Given the description of an element on the screen output the (x, y) to click on. 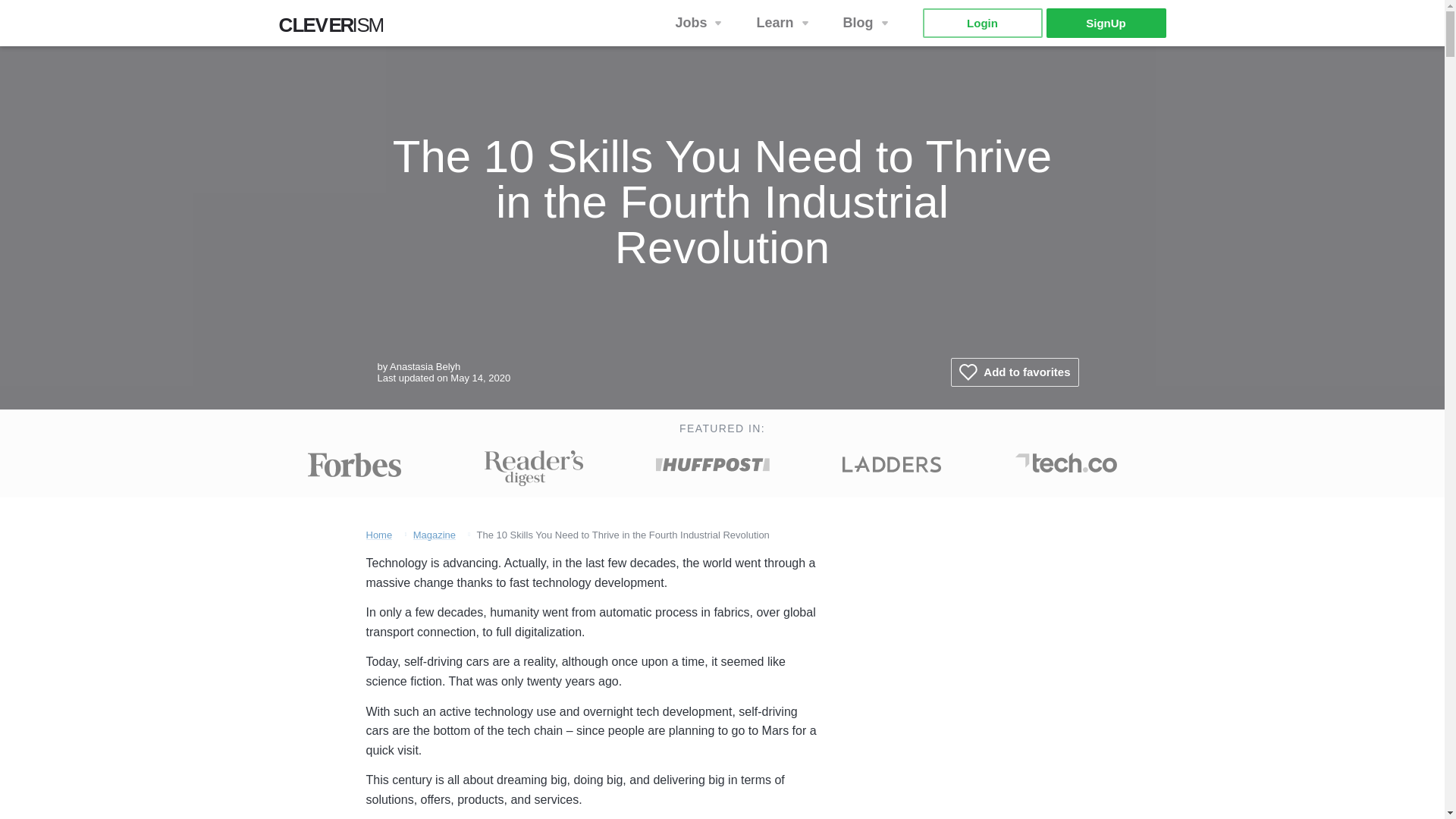
Home (378, 534)
Login (981, 22)
Magazine (434, 534)
Jobs (700, 22)
SignUp (1106, 22)
Add to favorites (1014, 371)
Blog (336, 28)
Learn (867, 22)
